Given the description of an element on the screen output the (x, y) to click on. 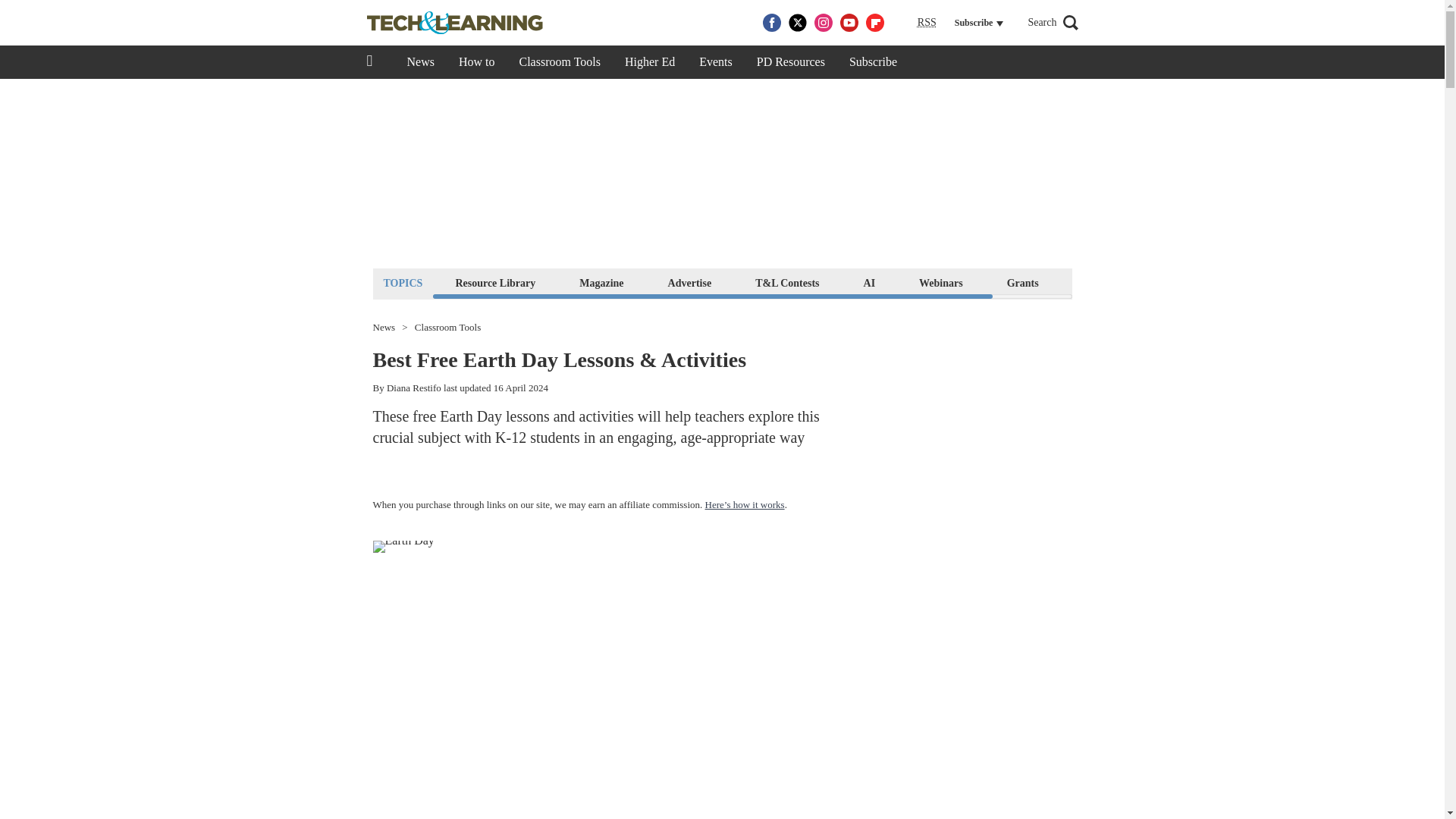
Webinars (941, 282)
Classroom Tools (558, 61)
RSS (926, 22)
Classroom Tools (447, 327)
Grants (1022, 282)
Subscribe (872, 61)
News (419, 61)
How to (476, 61)
Advertise (689, 282)
AI (869, 282)
